Given the description of an element on the screen output the (x, y) to click on. 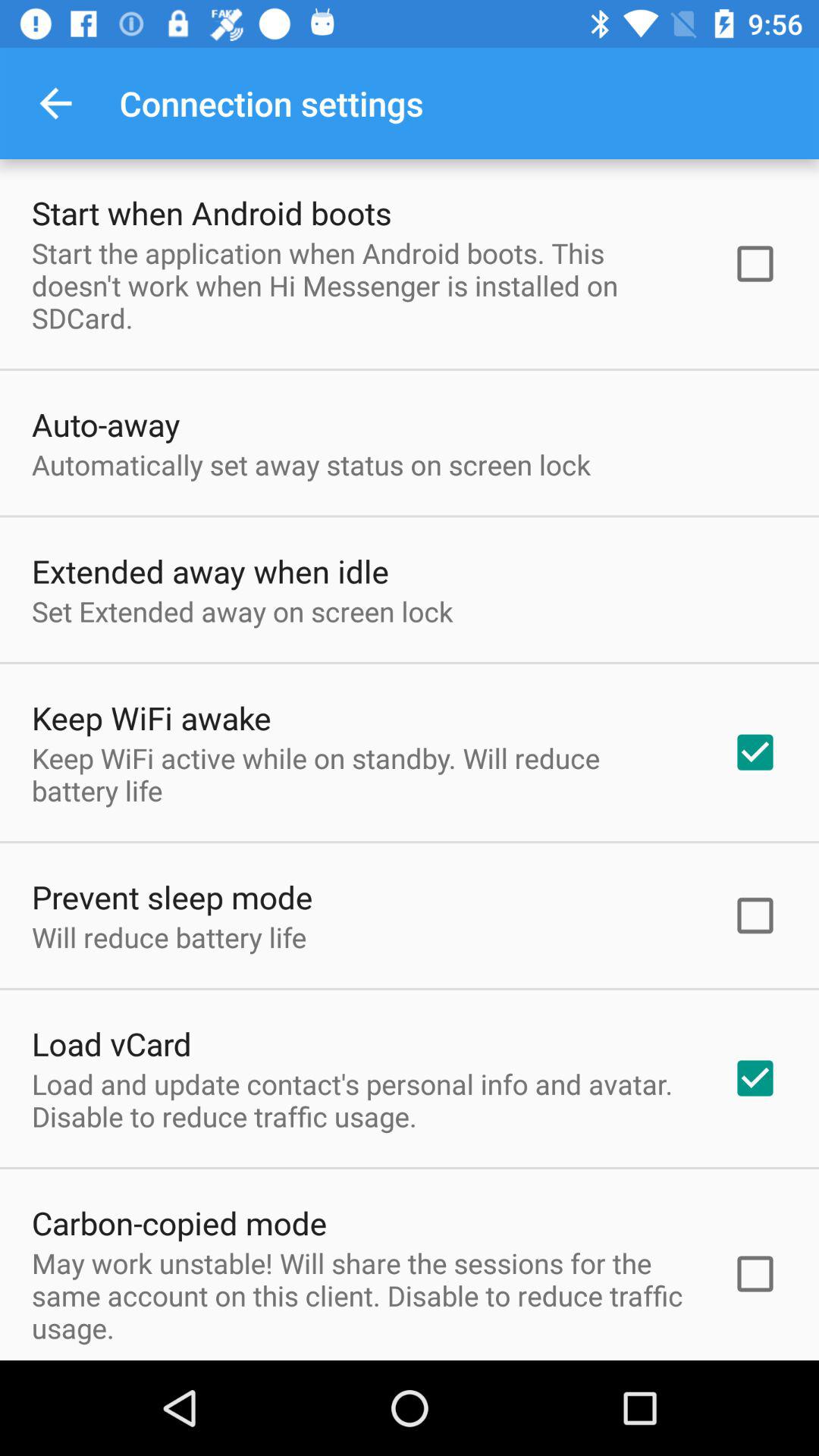
click on the first check box (755, 263)
